Given the description of an element on the screen output the (x, y) to click on. 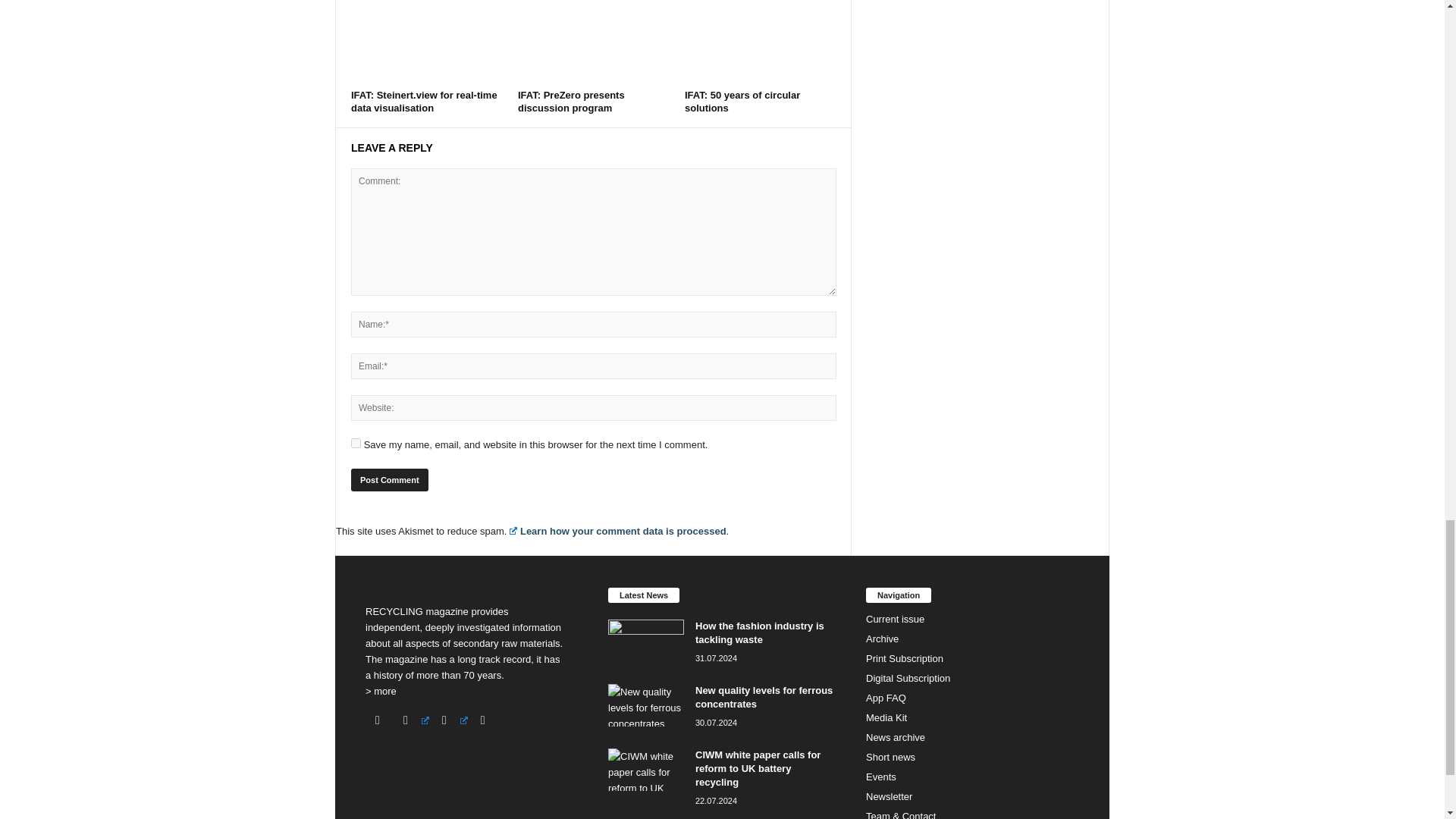
Post Comment (389, 479)
yes (355, 442)
